Given the description of an element on the screen output the (x, y) to click on. 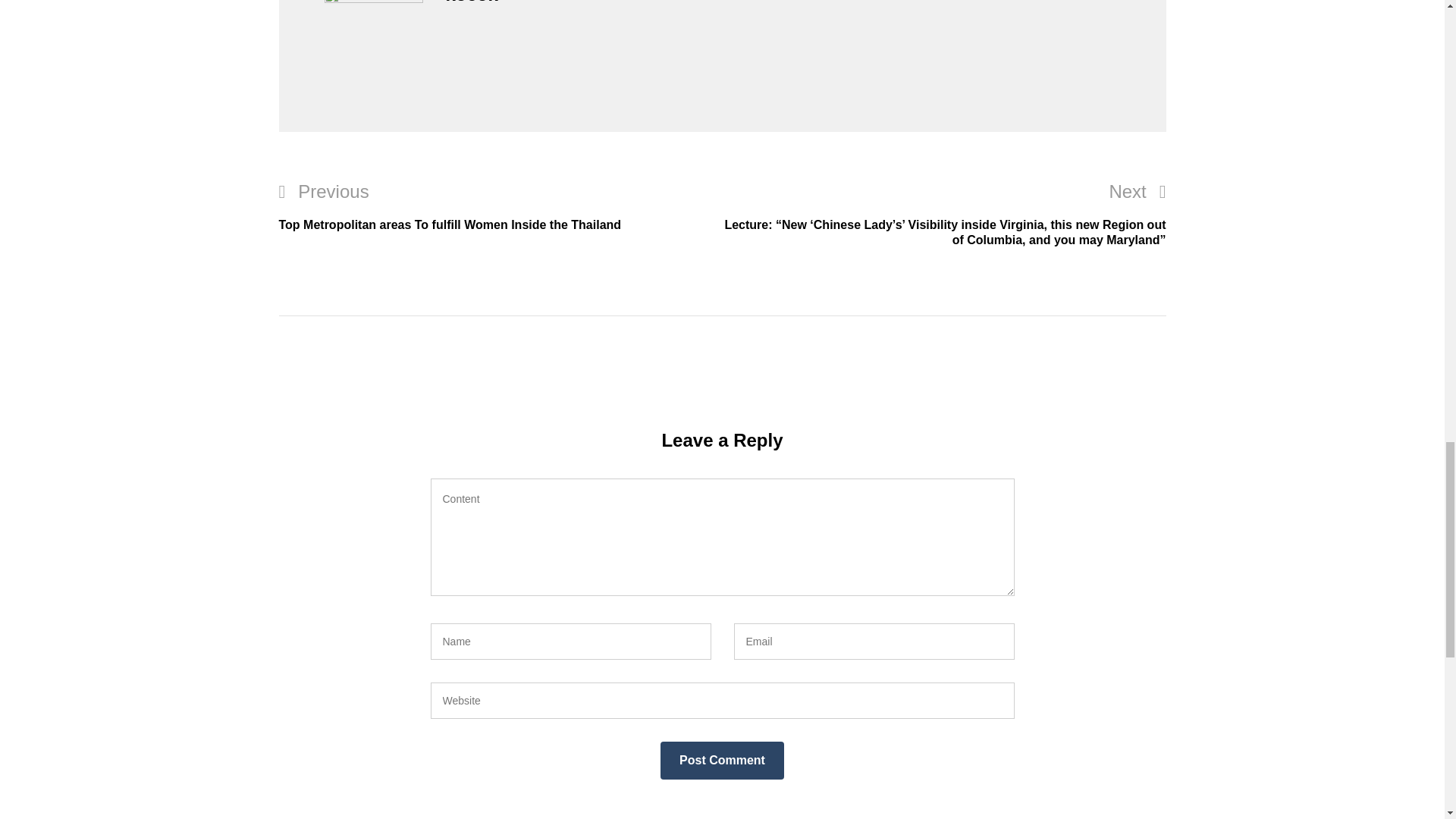
Post Comment (722, 760)
